Given the description of an element on the screen output the (x, y) to click on. 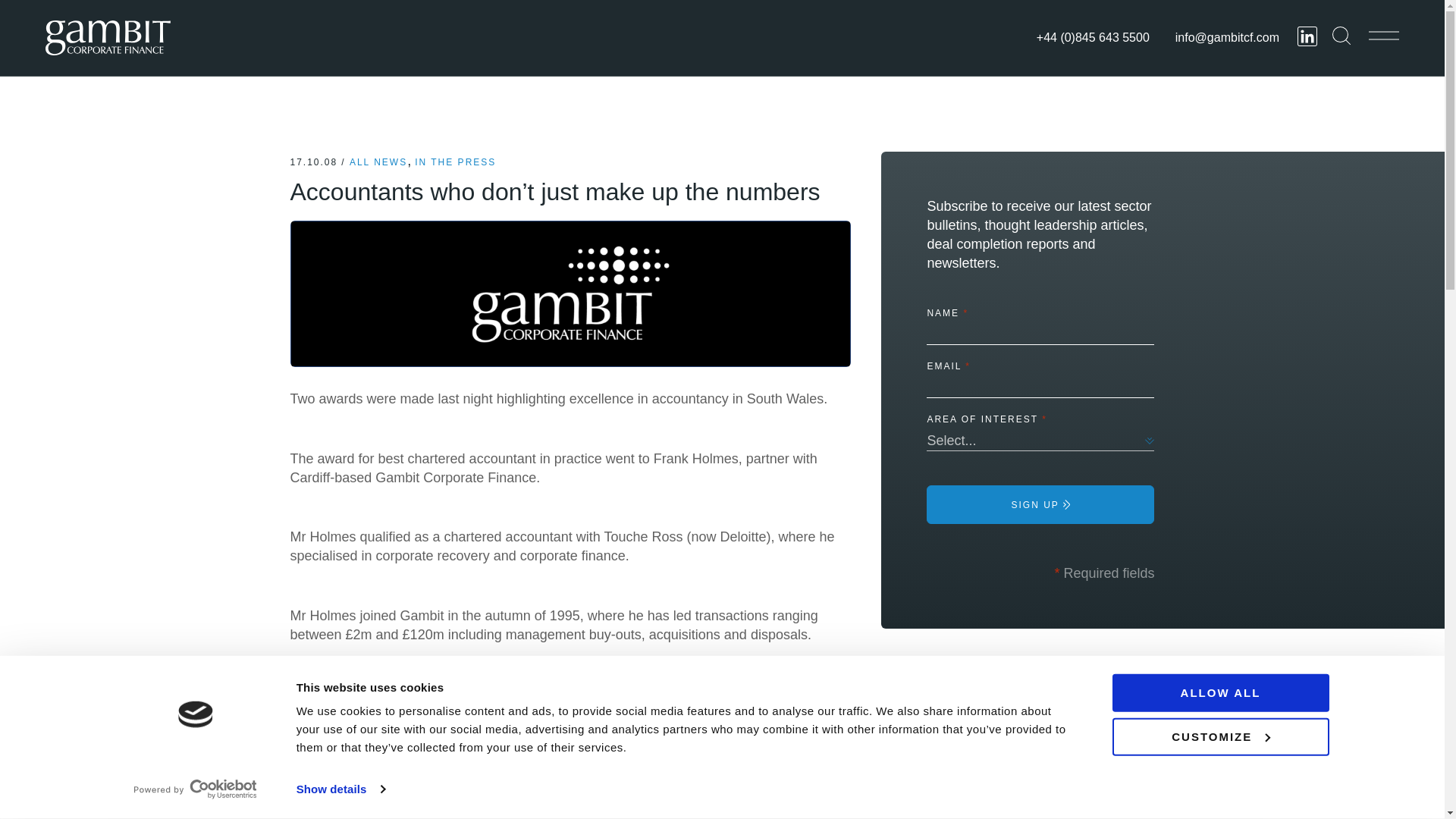
Show details (340, 789)
CUSTOMIZE (1219, 736)
ALLOW ALL (1219, 692)
